Given the description of an element on the screen output the (x, y) to click on. 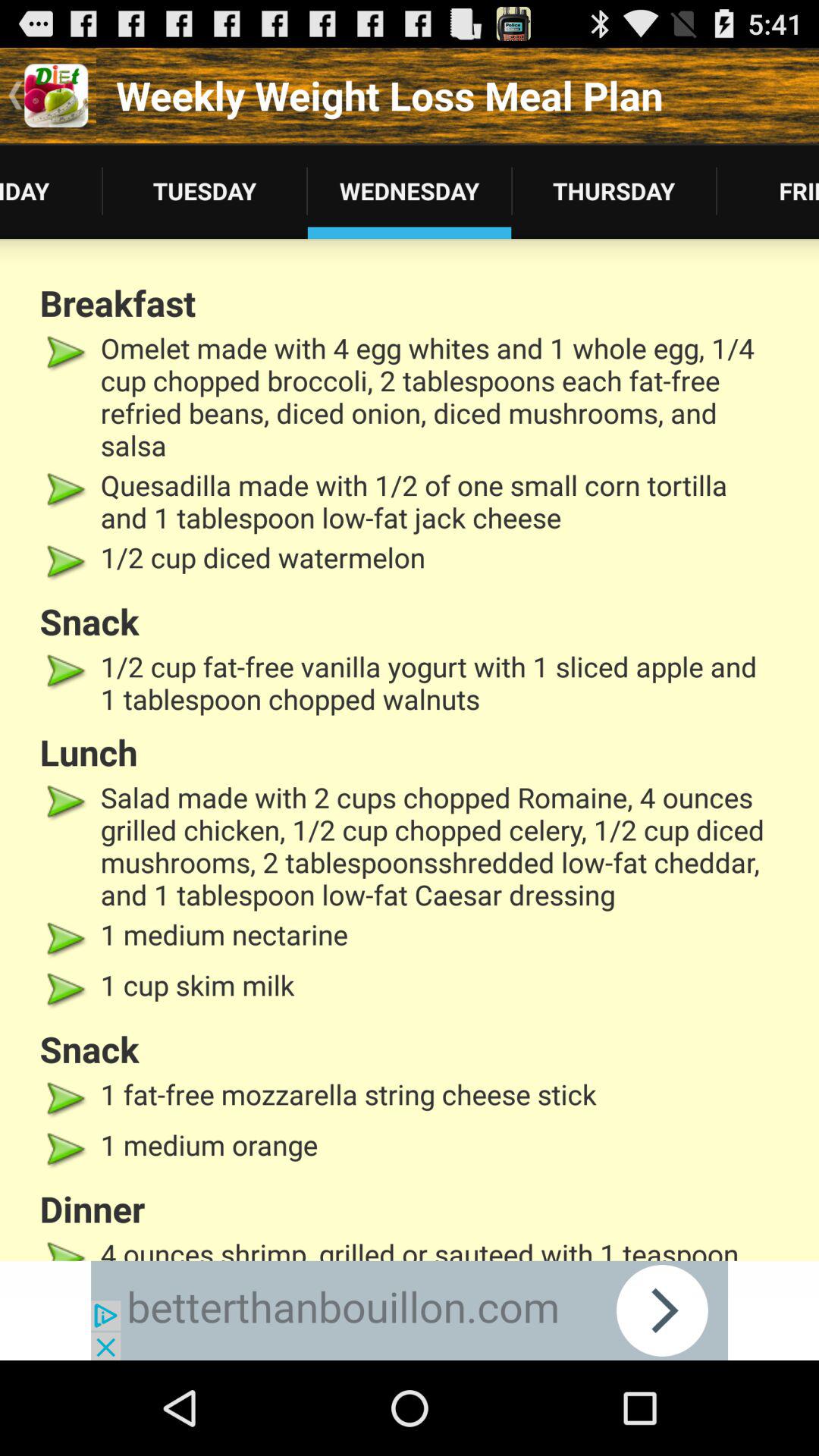
advertisement for betterthanbouillon.com (409, 1310)
